Given the description of an element on the screen output the (x, y) to click on. 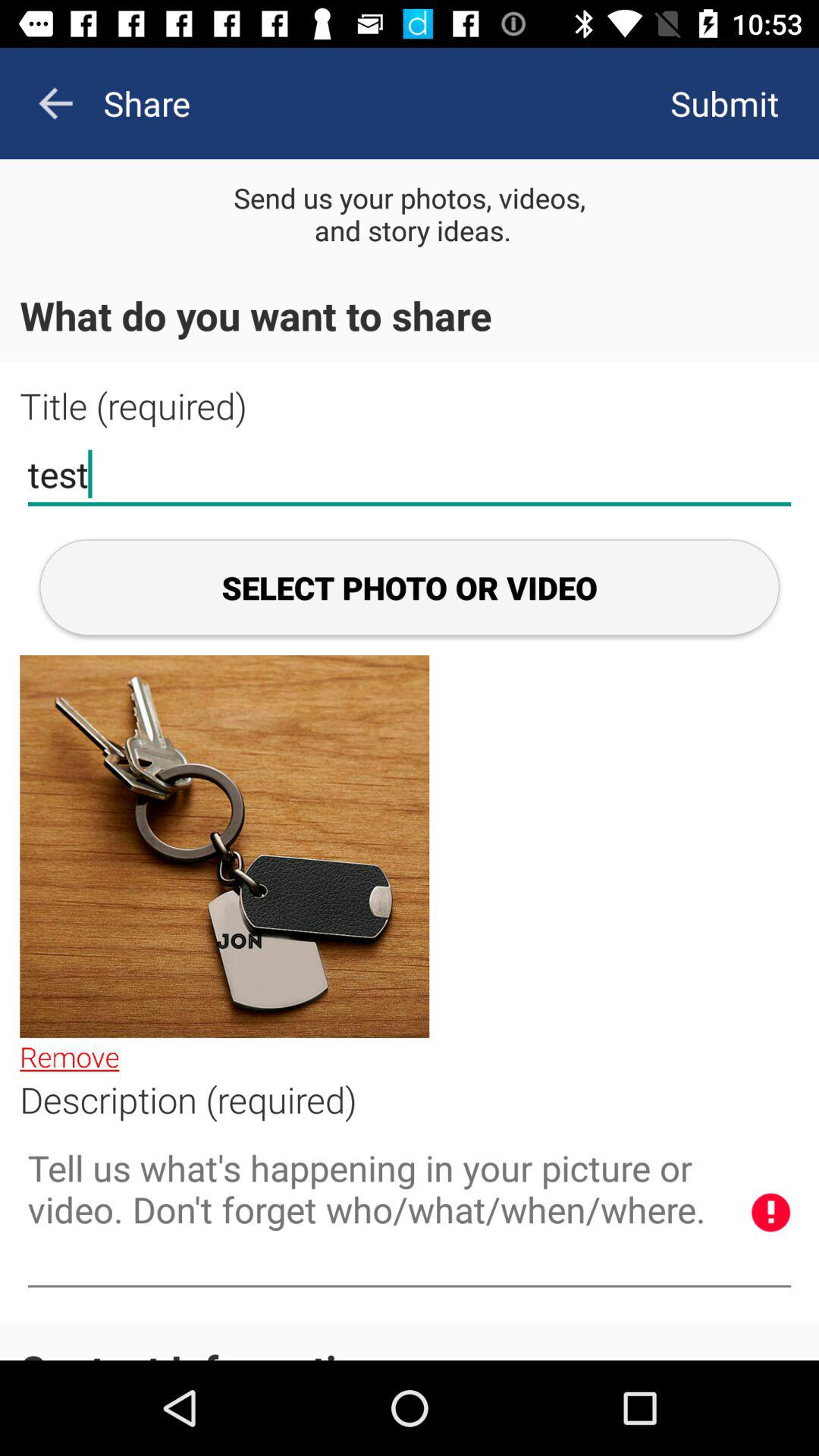
enter information about photo in box (409, 1213)
